Given the description of an element on the screen output the (x, y) to click on. 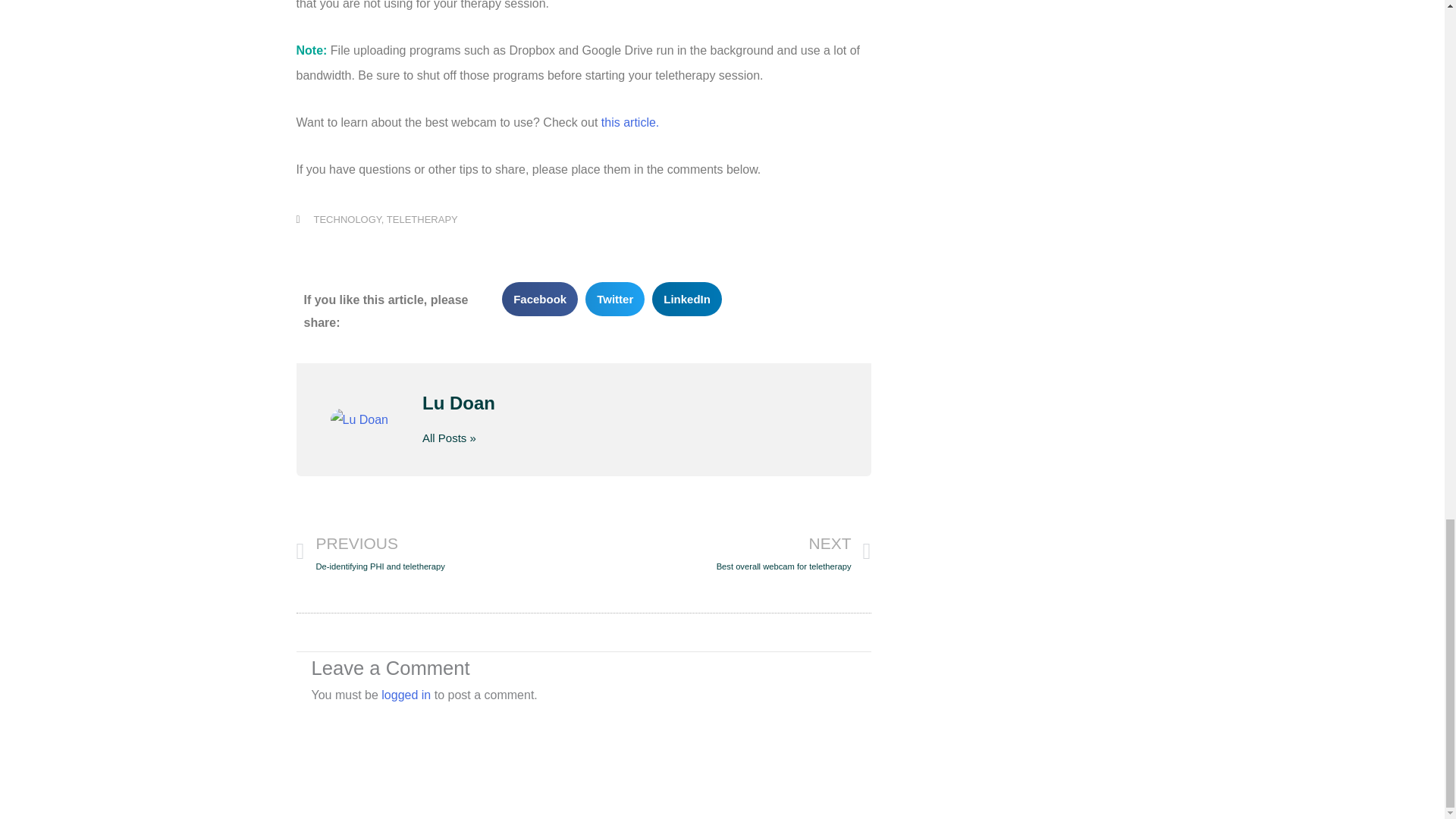
Lu Doan (629, 402)
this article. (630, 122)
TELETHERAPY (439, 551)
logged in (422, 219)
TECHNOLOGY (405, 694)
